Given the description of an element on the screen output the (x, y) to click on. 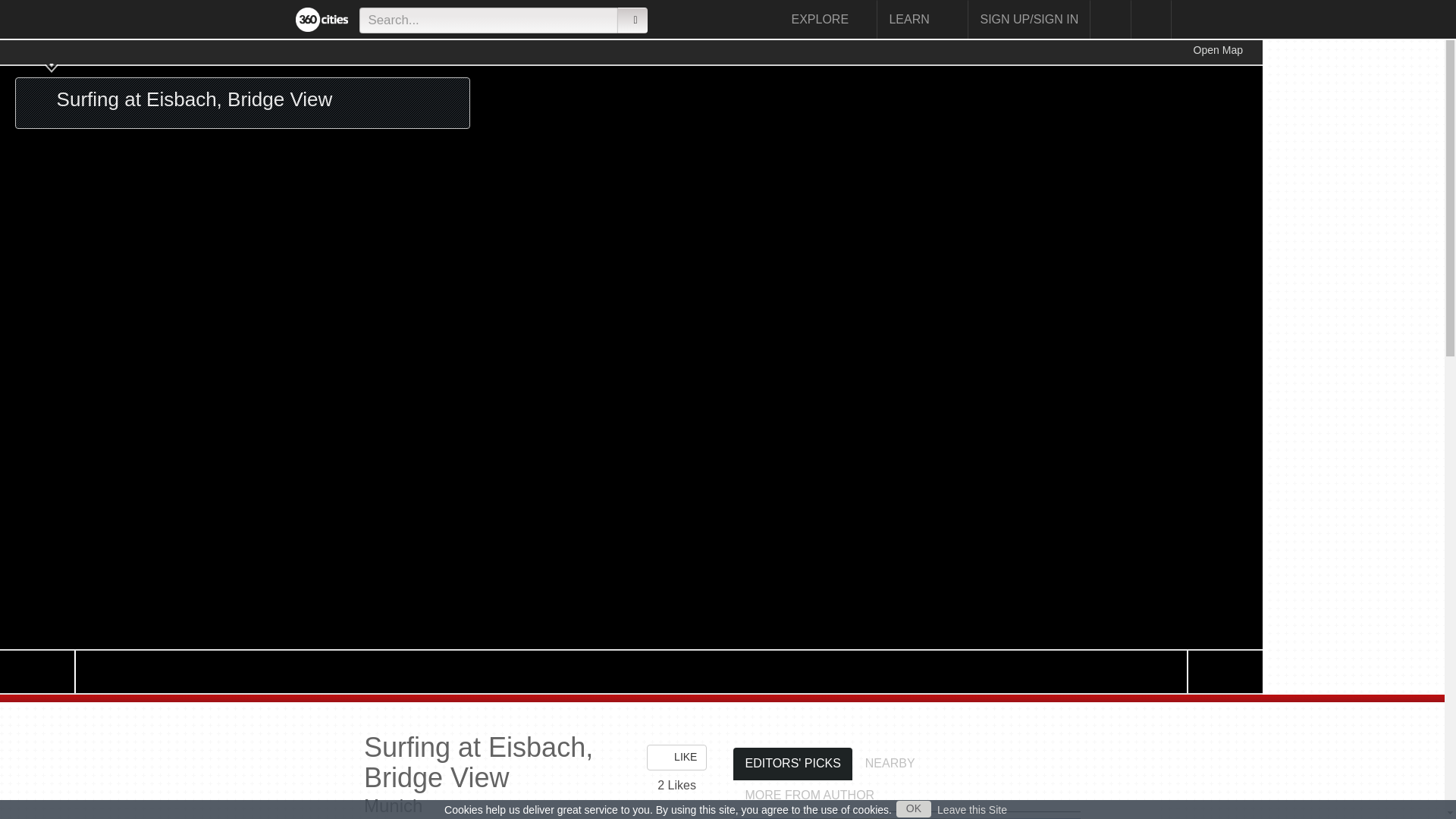
EXPLORE (827, 19)
LEARN (922, 19)
